Given the description of an element on the screen output the (x, y) to click on. 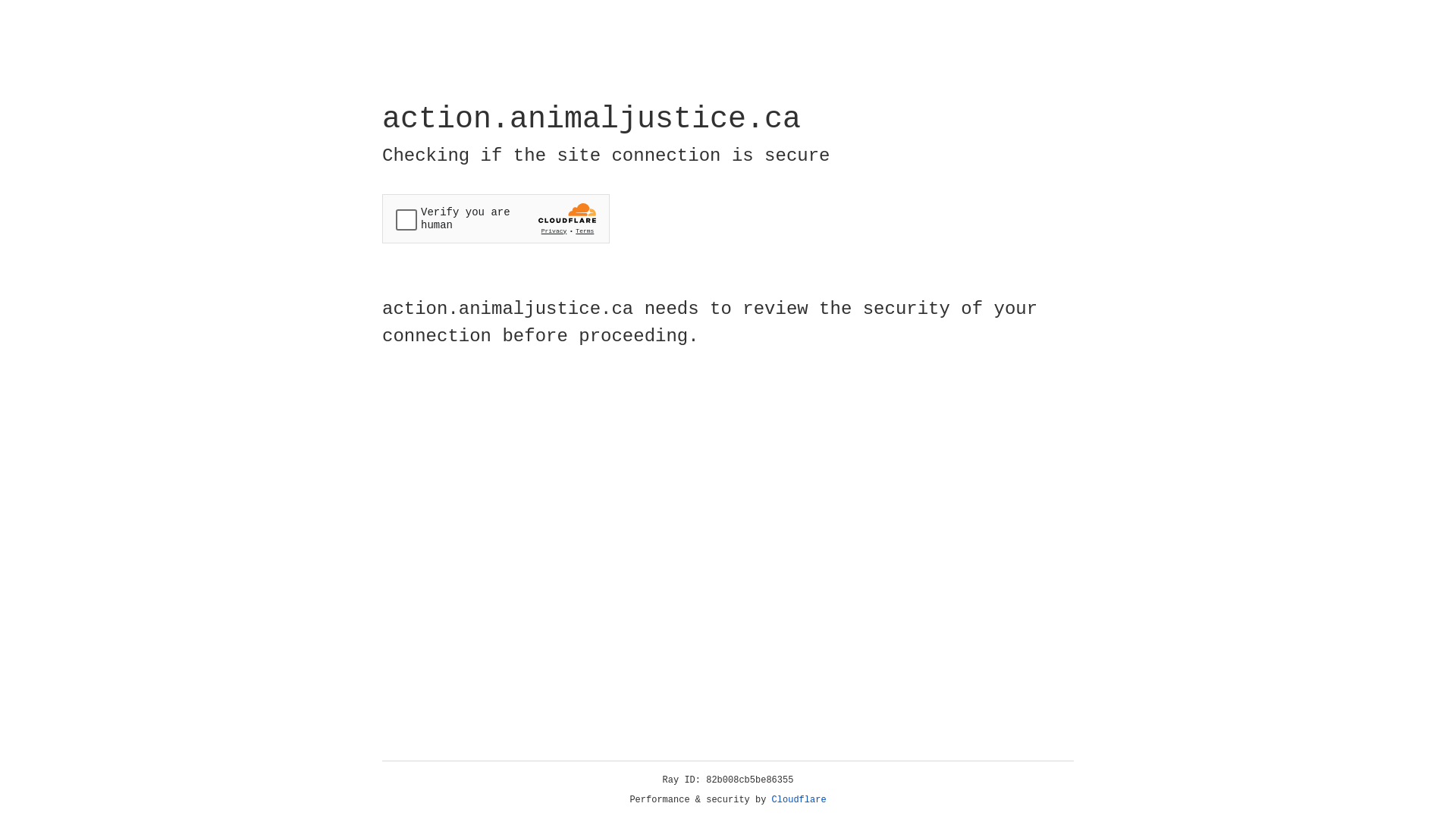
Widget containing a Cloudflare security challenge Element type: hover (495, 218)
Cloudflare Element type: text (798, 799)
